Given the description of an element on the screen output the (x, y) to click on. 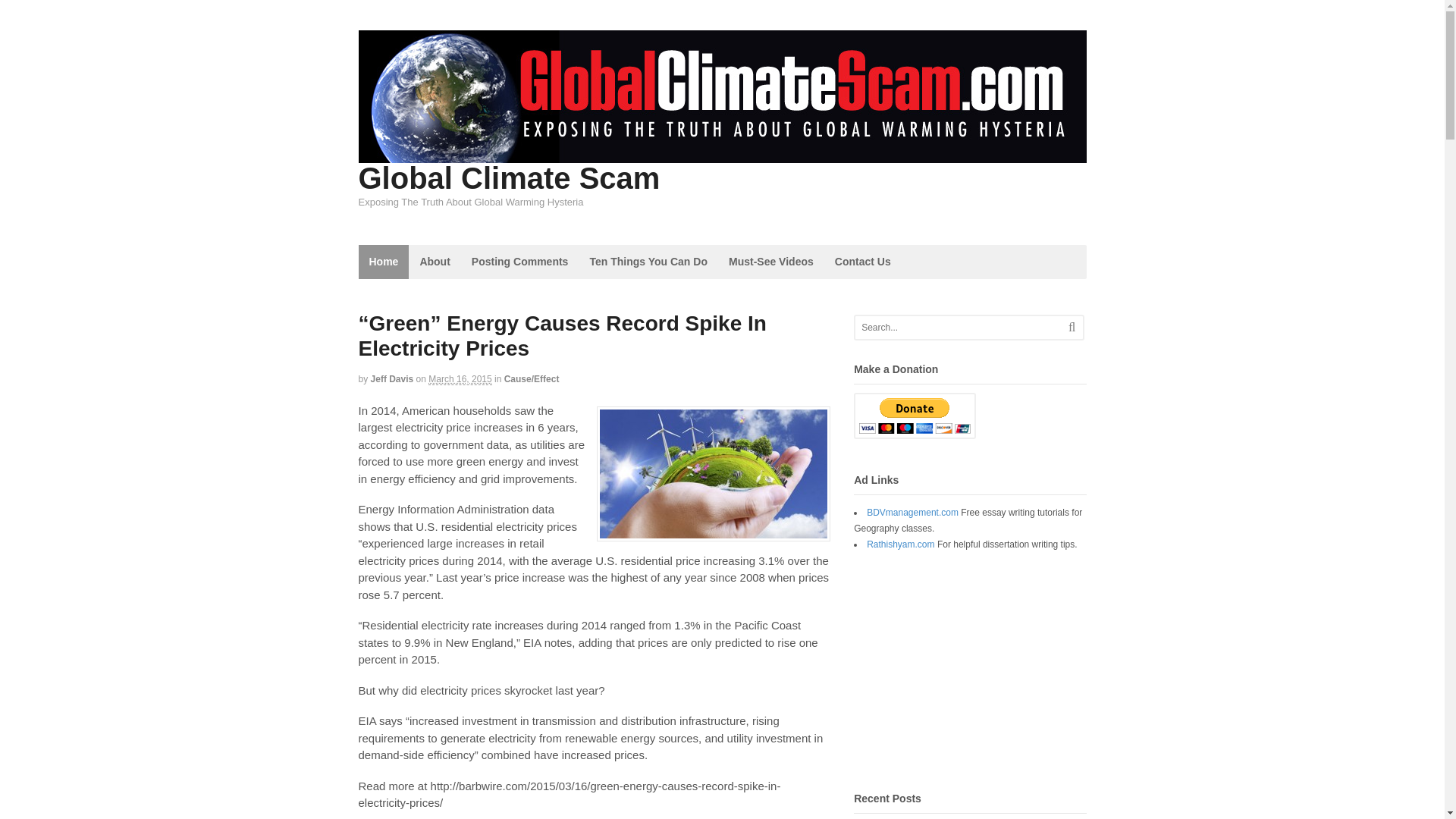
Ten Things You Can Do (647, 261)
About (434, 261)
Home (383, 261)
Global Climate Scam (508, 177)
2015-03-16T20:41:44-0500 (460, 378)
Jeff Davis (392, 378)
For helpful dissertation writing tips. (900, 543)
Posting Comments (520, 261)
Free essay writing tutorials for Geography classes. (912, 511)
Search... (958, 327)
